Given the description of an element on the screen output the (x, y) to click on. 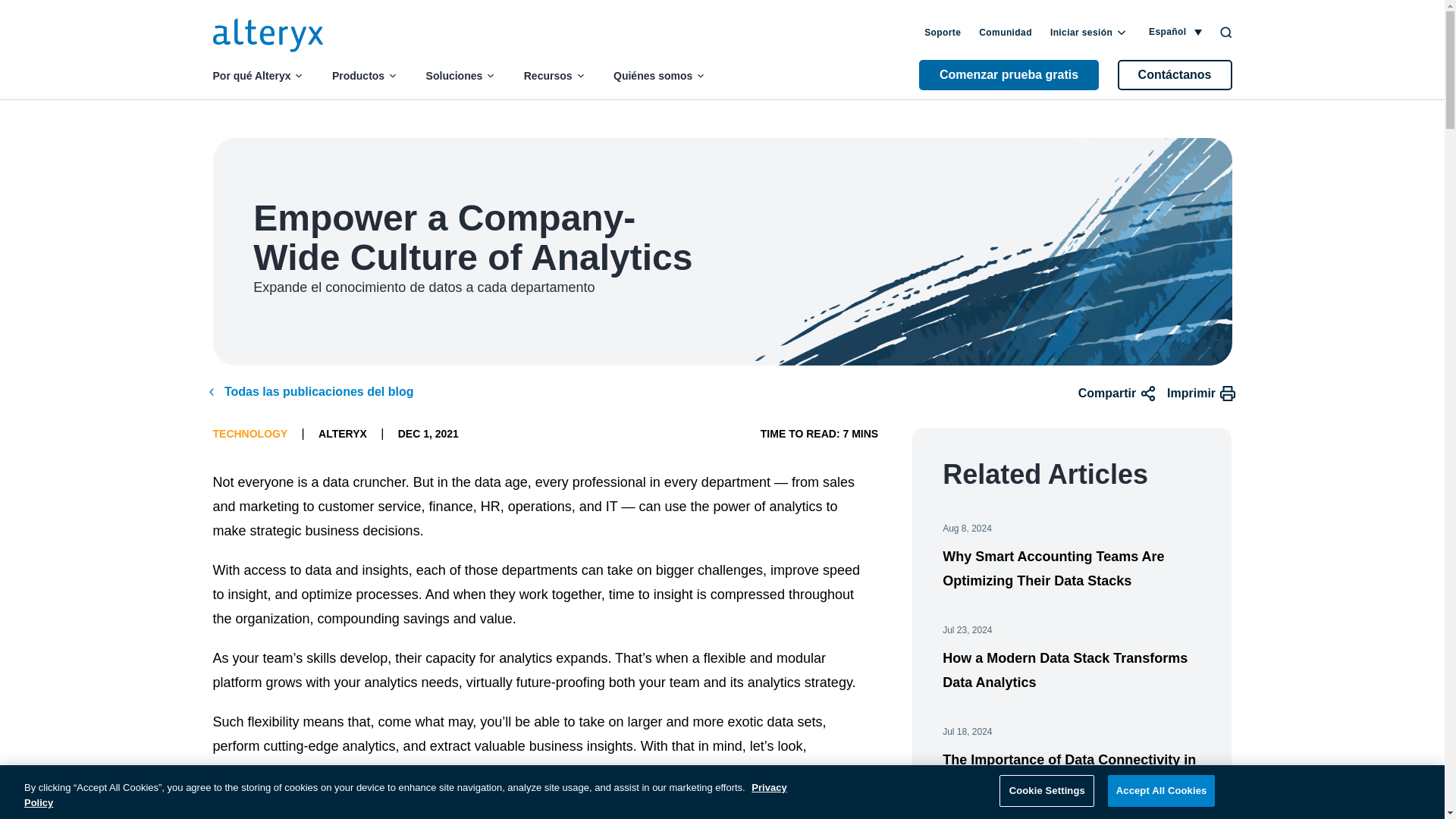
Recursos (548, 75)
Productos (357, 75)
Comunidad (1005, 31)
Soluciones (454, 75)
Soporte (942, 31)
Comenzar prueba gratis (1008, 74)
